Given the description of an element on the screen output the (x, y) to click on. 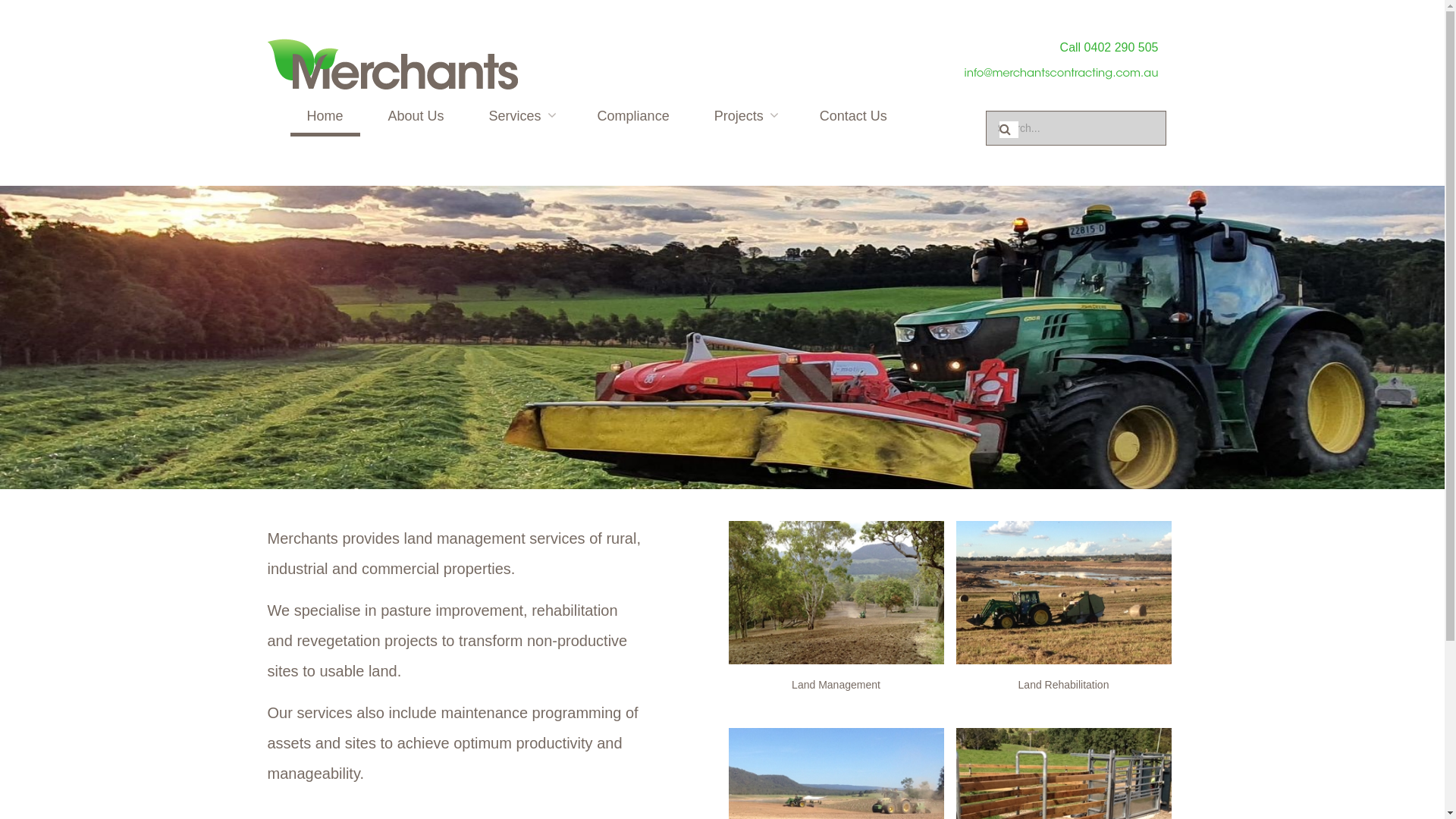
Contact Us Element type: text (853, 115)
Services Element type: text (520, 115)
About Us Element type: text (416, 115)
Home Element type: text (324, 115)
Land Management Element type: text (835, 684)
Compliance Element type: text (633, 115)
Email Merchants Element type: hover (1060, 73)
Projects Element type: text (744, 115)
Land Rehabilitation Element type: text (1063, 684)
